Given the description of an element on the screen output the (x, y) to click on. 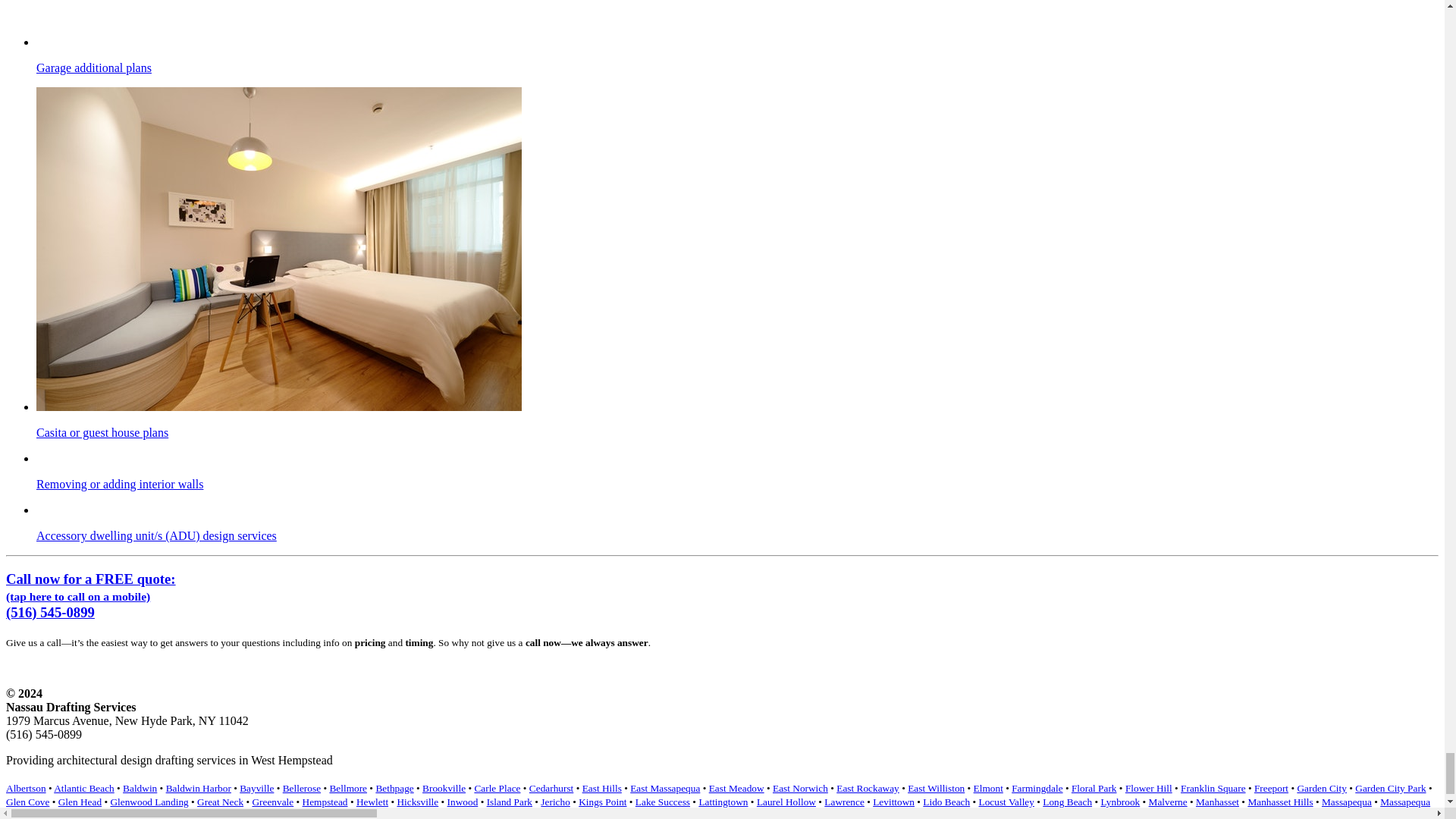
East Williston (935, 787)
Brookville (443, 787)
Floral Park (1093, 787)
East Massapequa (665, 787)
Baldwin Harbor (198, 787)
Carle Place (496, 787)
East Norwich (800, 787)
Bellmore (347, 787)
East Meadow (736, 787)
Elmont (988, 787)
Albertson (25, 787)
East Rockaway (867, 787)
Cedarhurst (551, 787)
Bethpage (394, 787)
